Given the description of an element on the screen output the (x, y) to click on. 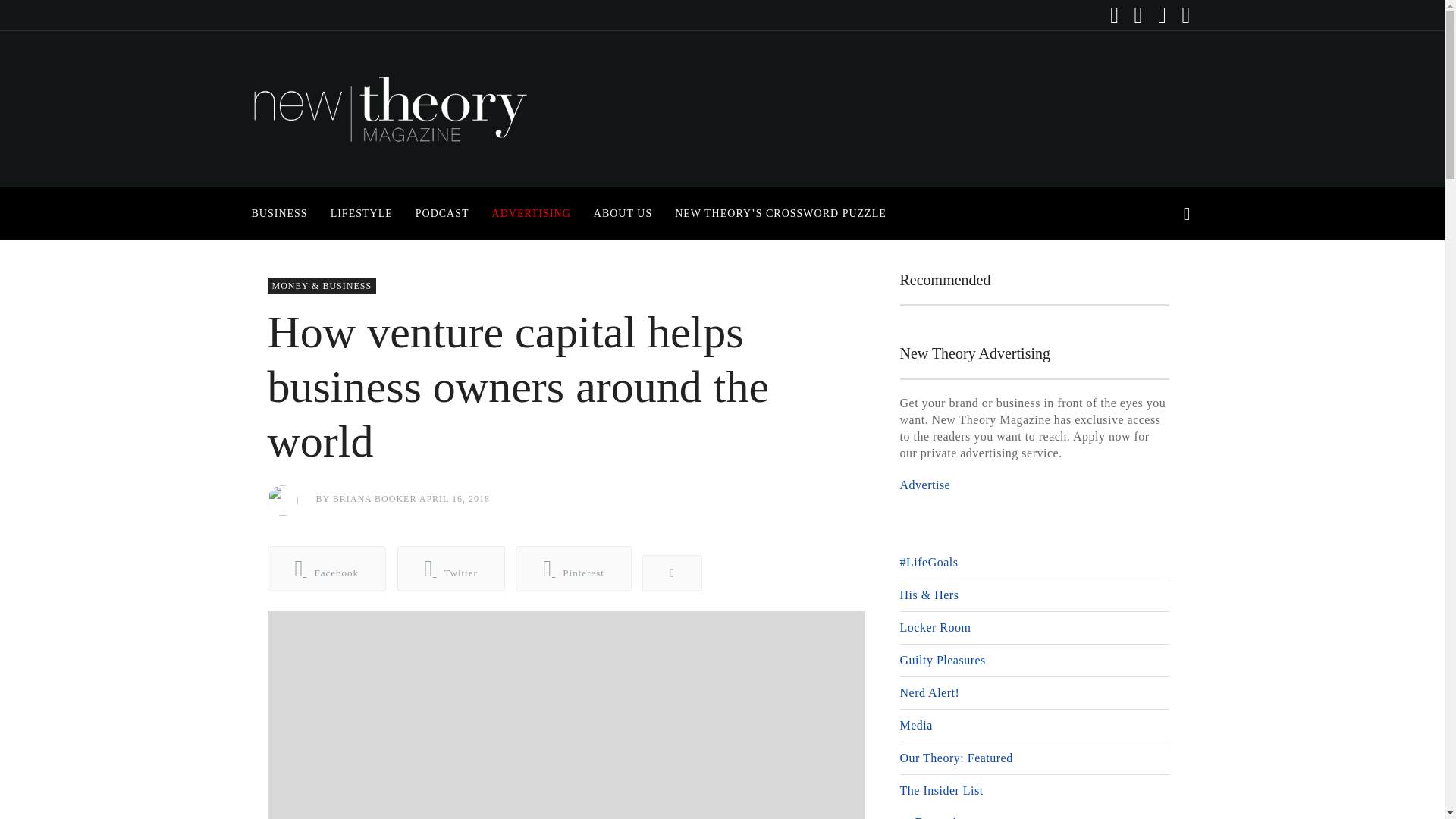
View all posts in 144 (320, 286)
